Given the description of an element on the screen output the (x, y) to click on. 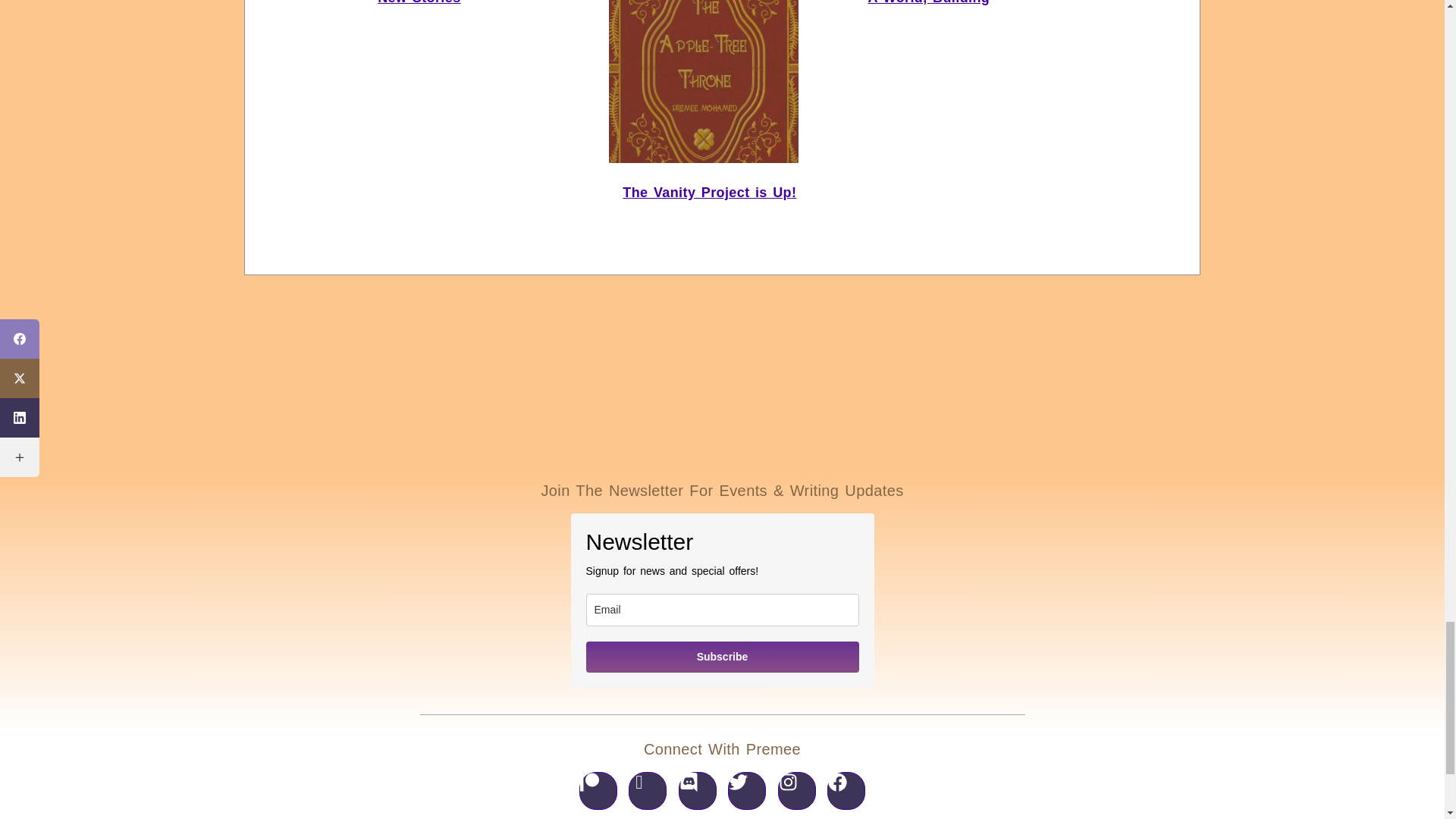
Subscribe (722, 656)
A World, Building (928, 2)
New Stories (418, 2)
The Vanity Project is Up! (709, 192)
